Given the description of an element on the screen output the (x, y) to click on. 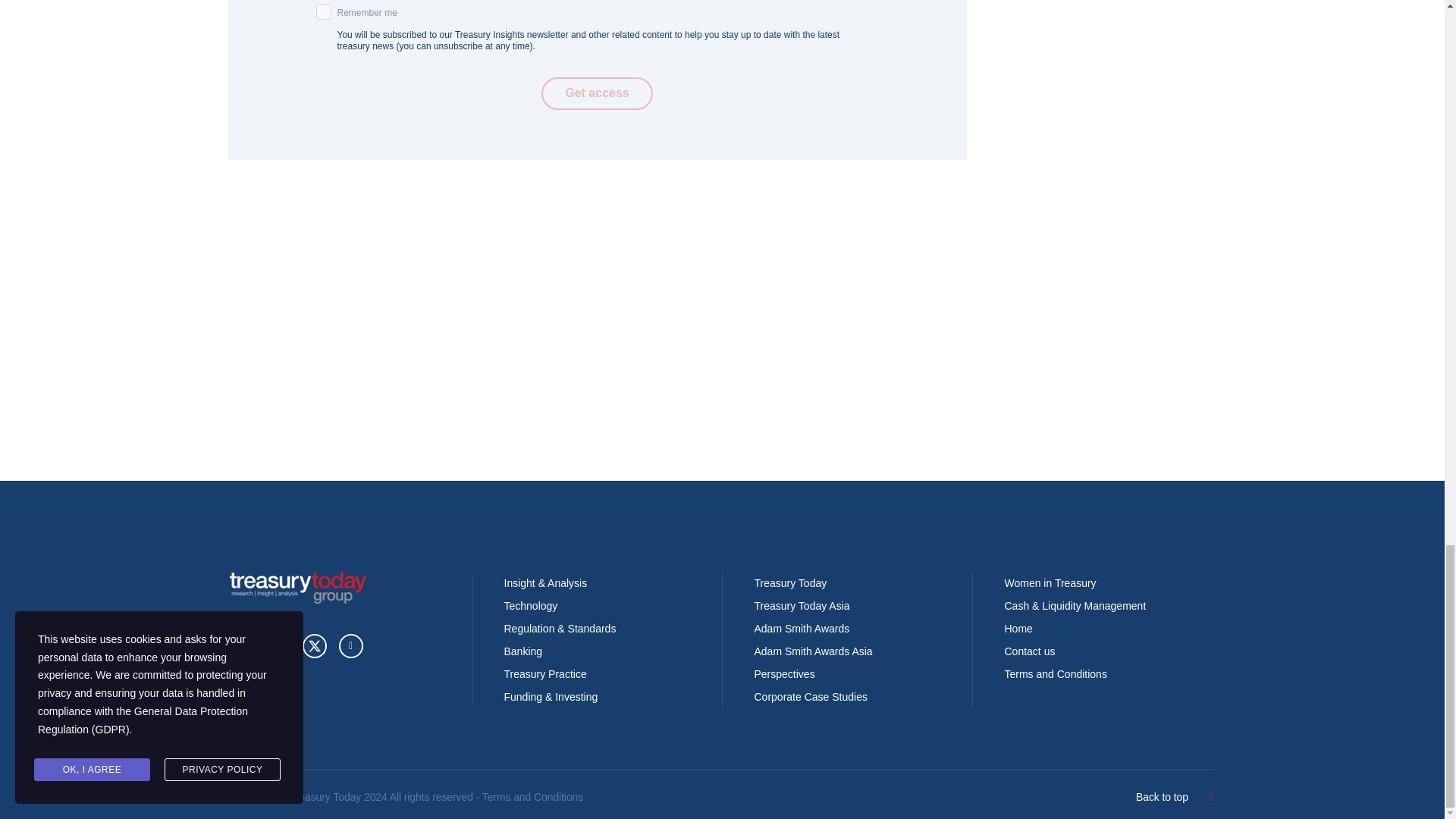
3rd party ad content (596, 381)
on (322, 11)
